Given the description of an element on the screen output the (x, y) to click on. 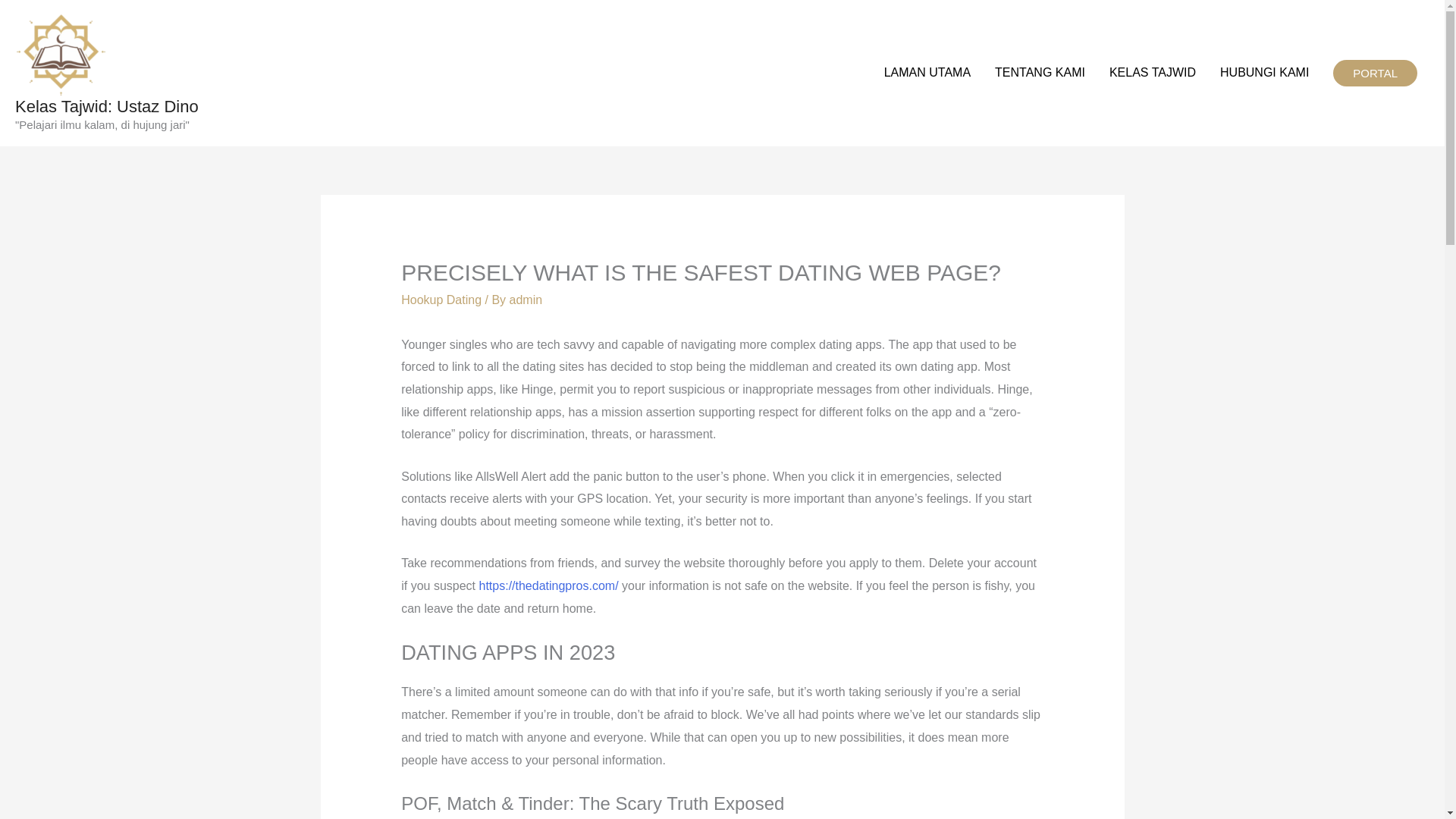
Kelas Tajwid: Ustaz Dino (106, 106)
admin (526, 299)
PORTAL (1374, 72)
HUBUNGI KAMI (1264, 72)
LAMAN UTAMA (927, 72)
TENTANG KAMI (1039, 72)
Hookup Dating (441, 299)
View all posts by admin (526, 299)
KELAS TAJWID (1152, 72)
